Given the description of an element on the screen output the (x, y) to click on. 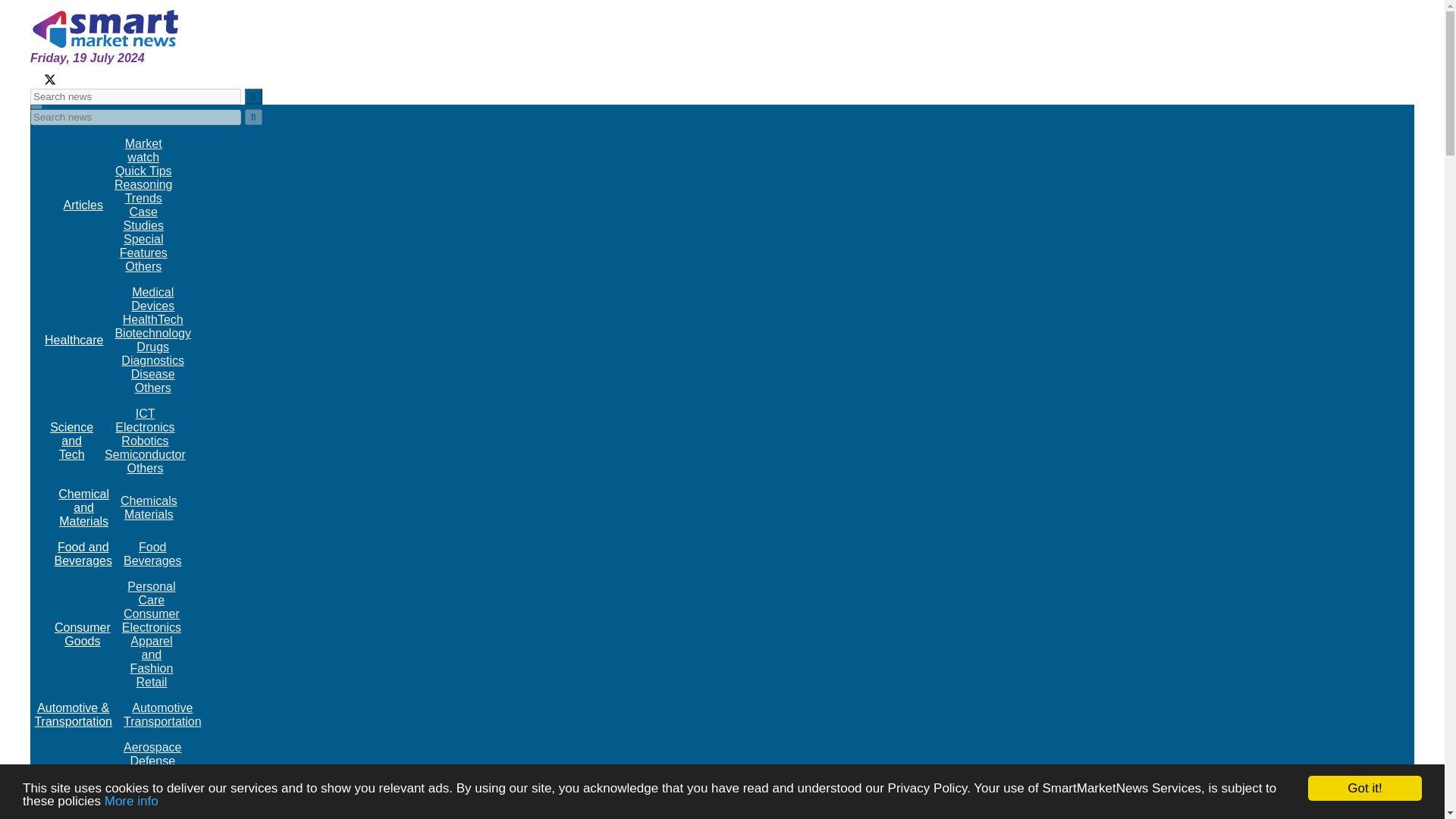
Electronics (144, 427)
Diagnostics (152, 359)
Food (151, 546)
Others (143, 266)
Beverages (152, 560)
Market watch (143, 150)
Materials (148, 513)
Medical Devices (152, 298)
Reasoning (144, 184)
Disease (152, 373)
Science and Tech (71, 440)
HealthTech (152, 318)
Others (144, 468)
Articles (83, 205)
Robotics (144, 440)
